Given the description of an element on the screen output the (x, y) to click on. 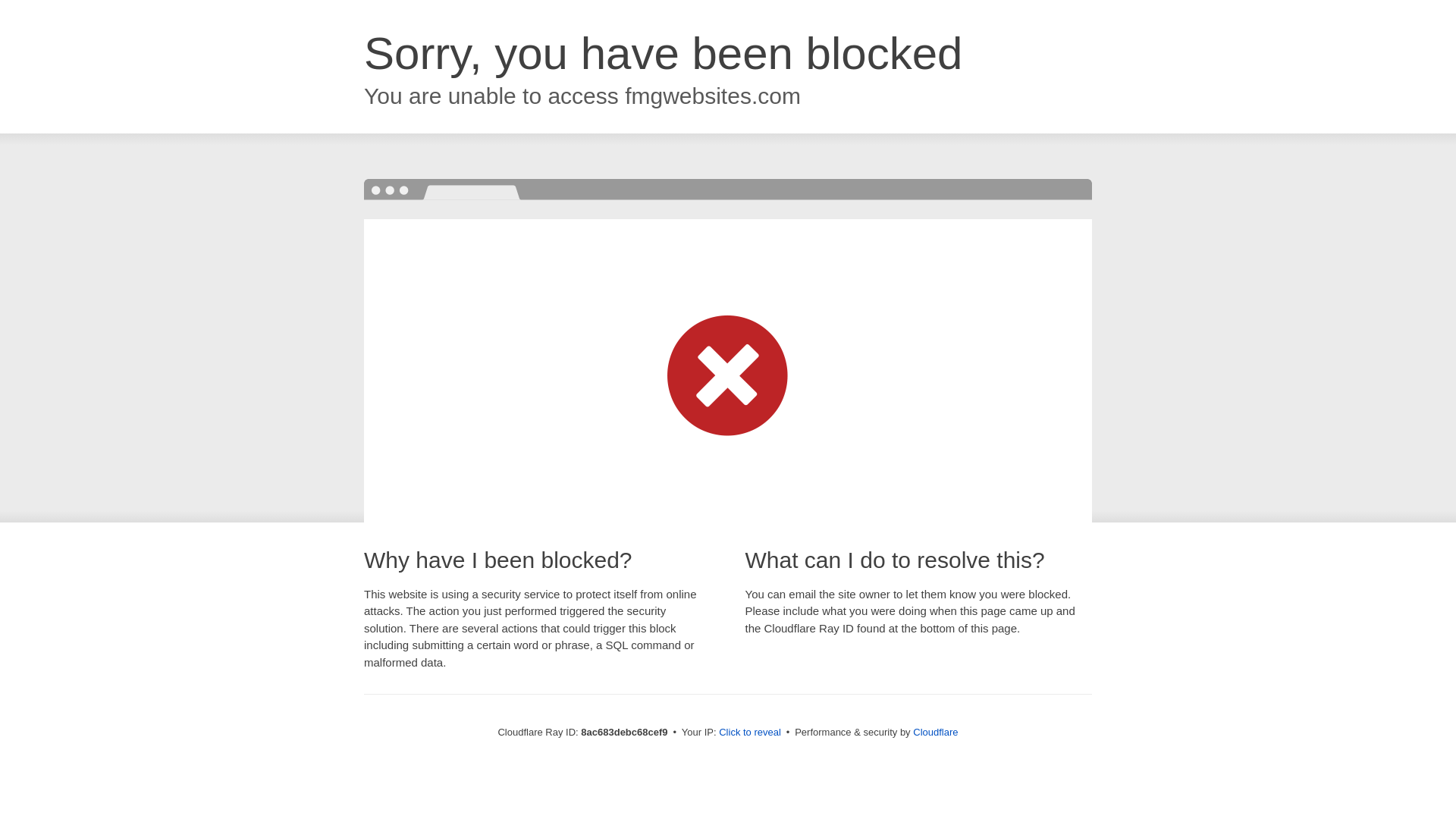
Click to reveal (749, 732)
Cloudflare (935, 731)
